Given the description of an element on the screen output the (x, y) to click on. 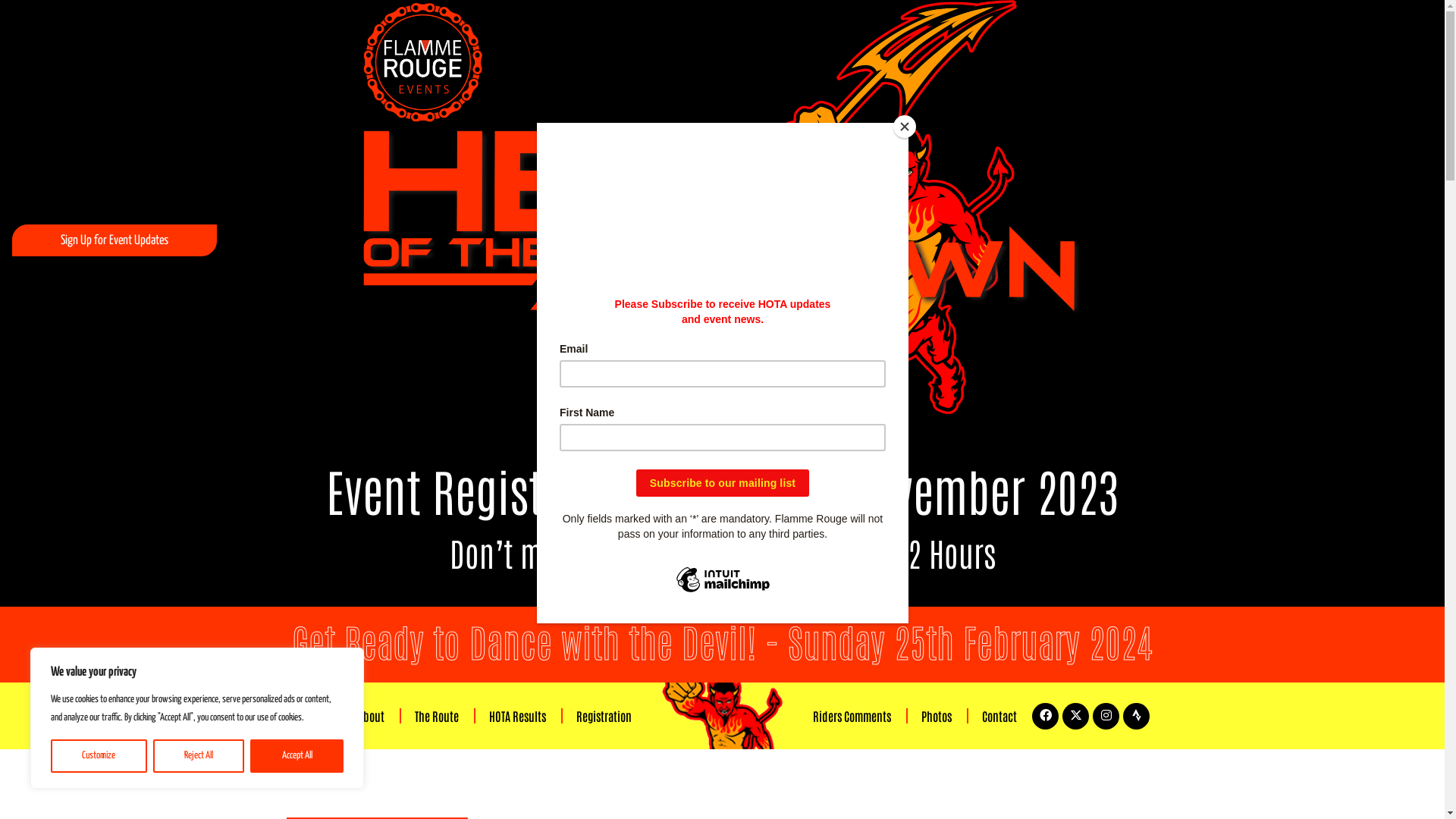
HOTA Results Element type: text (517, 715)
Accept All Element type: text (296, 755)
Photos Element type: text (936, 715)
Customize Element type: text (98, 755)
Sign Up for Event Updates Element type: text (114, 240)
Reject All Element type: text (198, 755)
The Route Element type: text (436, 715)
Riders Comments Element type: text (851, 715)
Sign Up for Event Updates Element type: text (114, 240)
Contact Element type: text (999, 715)
Registration Element type: text (603, 715)
About Element type: text (370, 715)
